Given the description of an element on the screen output the (x, y) to click on. 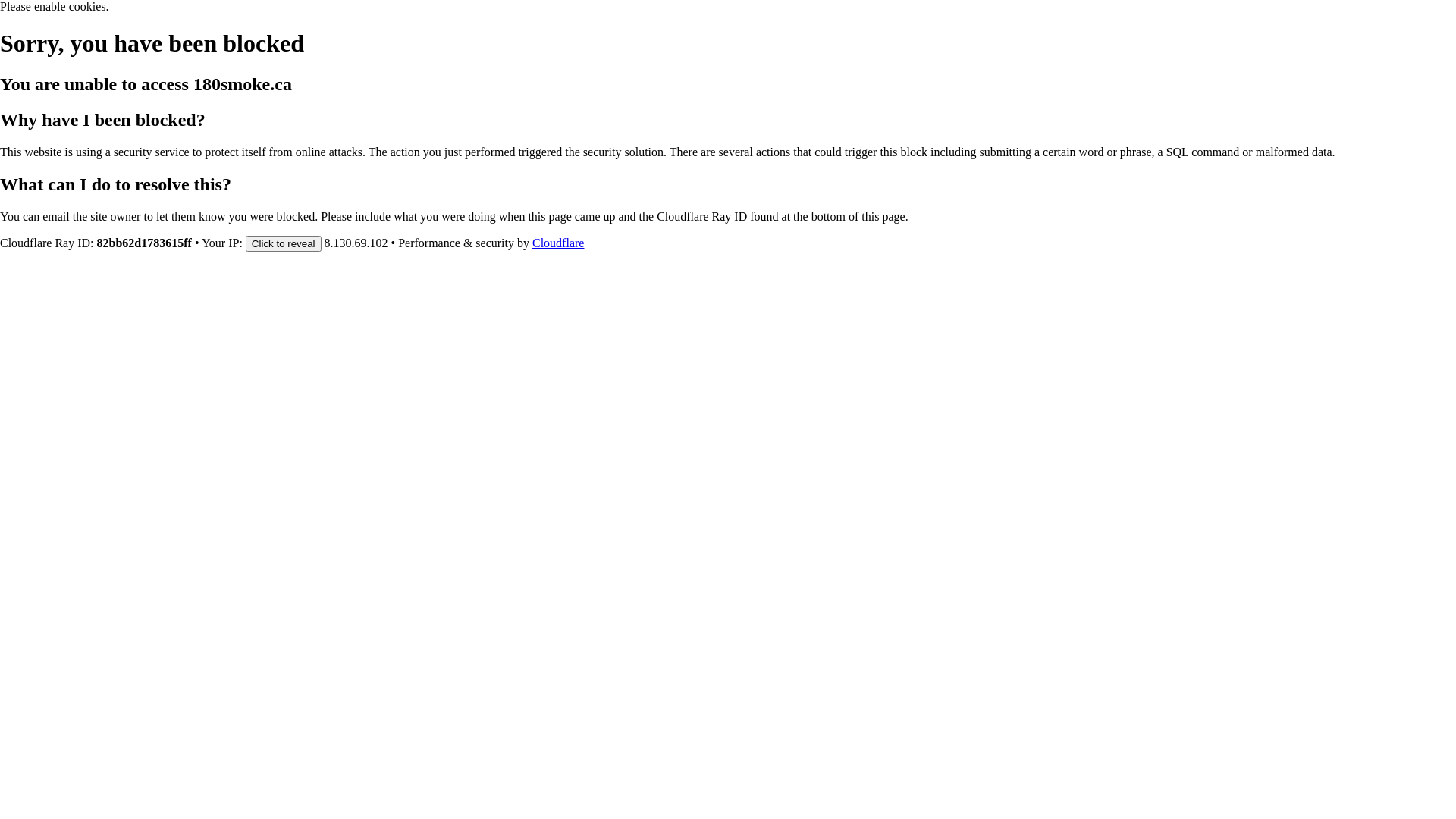
Cloudflare Element type: text (557, 242)
Click to reveal Element type: text (283, 243)
